Given the description of an element on the screen output the (x, y) to click on. 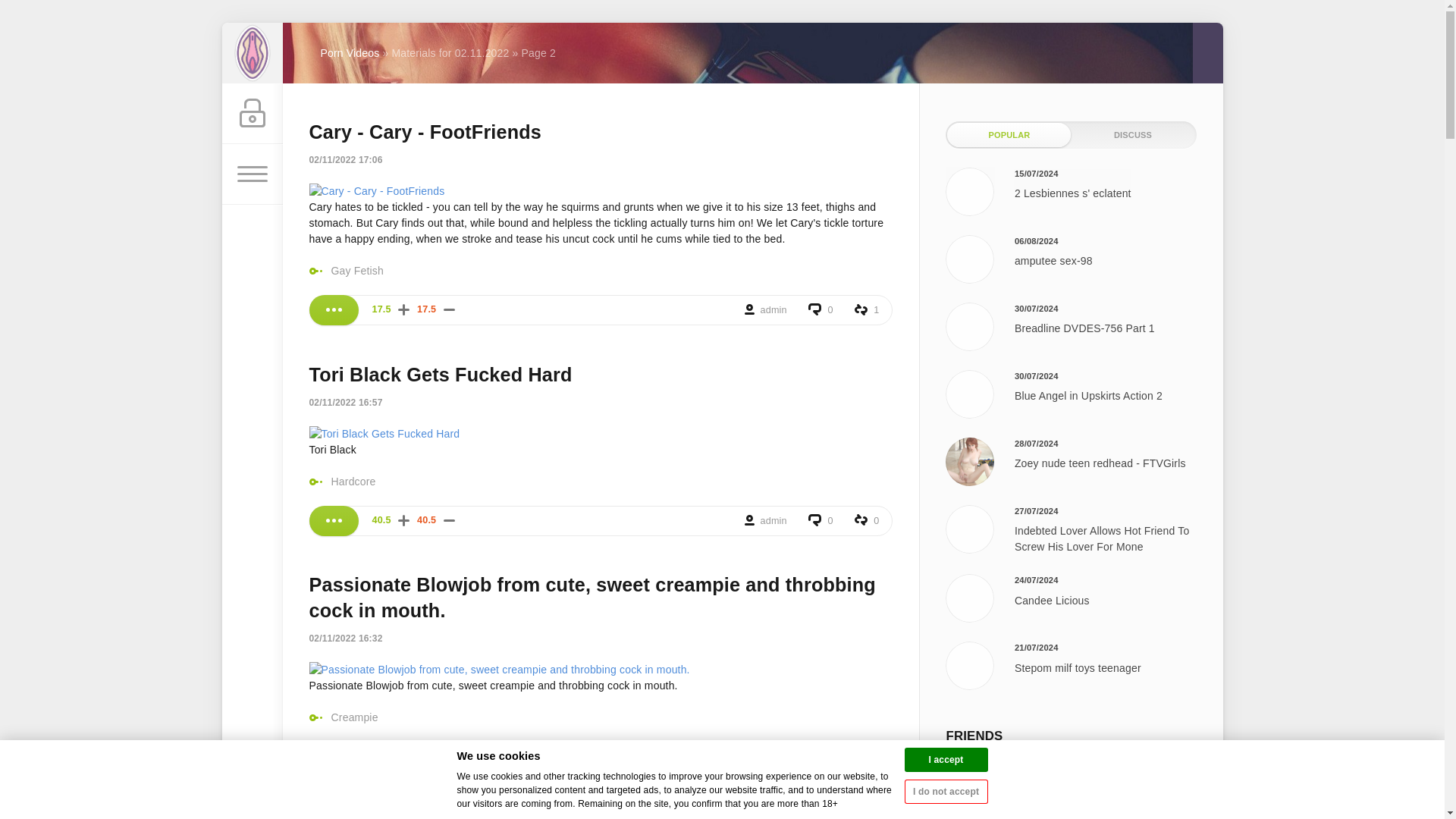
Read more: Cary - Cary - FootFriends (333, 309)
Comments: 0 (820, 309)
Dislike (449, 520)
Like (403, 520)
pornomania.nl (251, 52)
Comments: 0 (820, 520)
Views: 0 (866, 520)
Read more: Tori Black Gets Fucked Hard (333, 521)
Like (403, 309)
Author (767, 309)
